Given the description of an element on the screen output the (x, y) to click on. 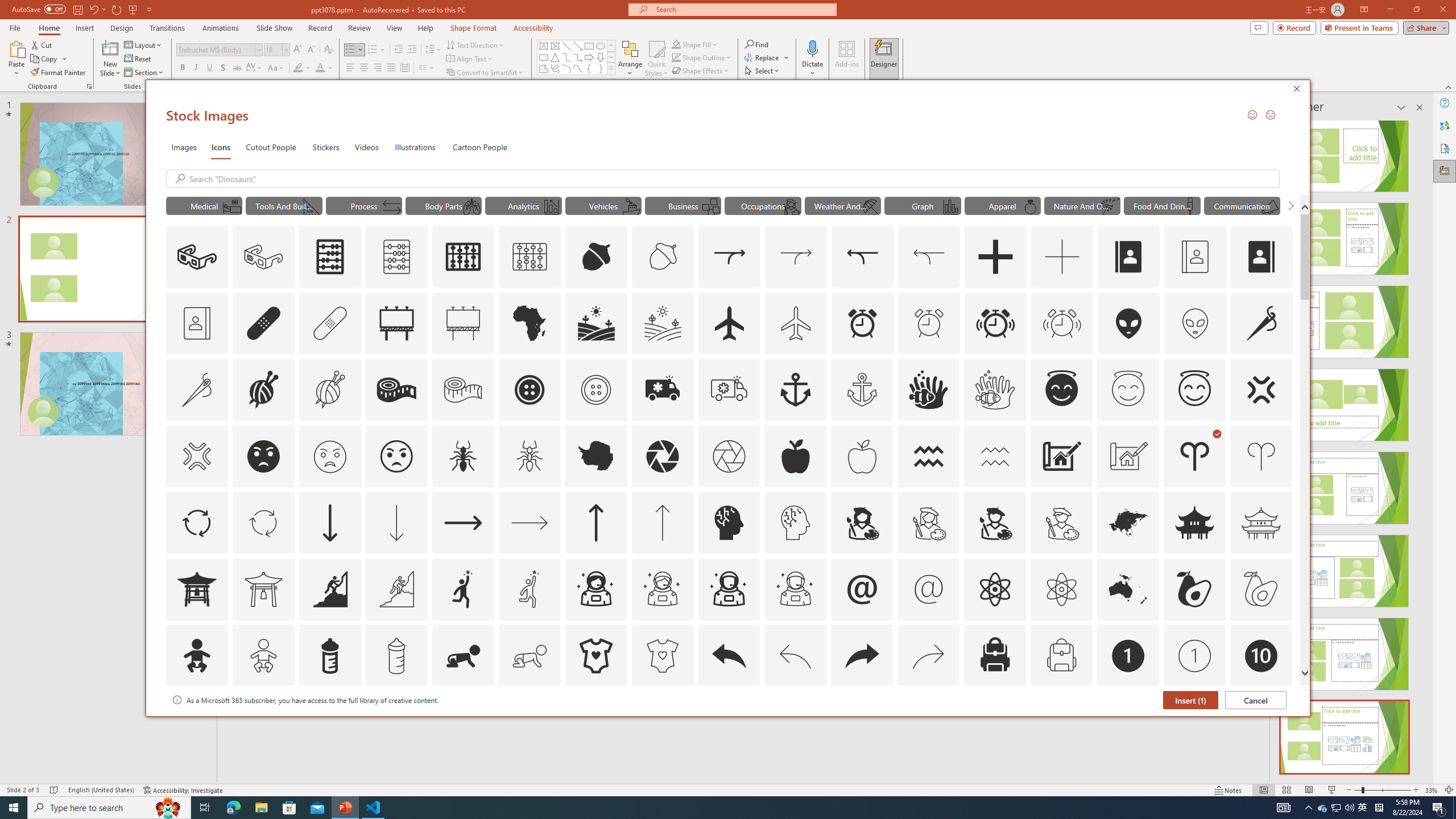
AutomationID: Icons_Ambulance_M (729, 389)
AutomationID: Icons_Badge5_M (729, 721)
